Given the description of an element on the screen output the (x, y) to click on. 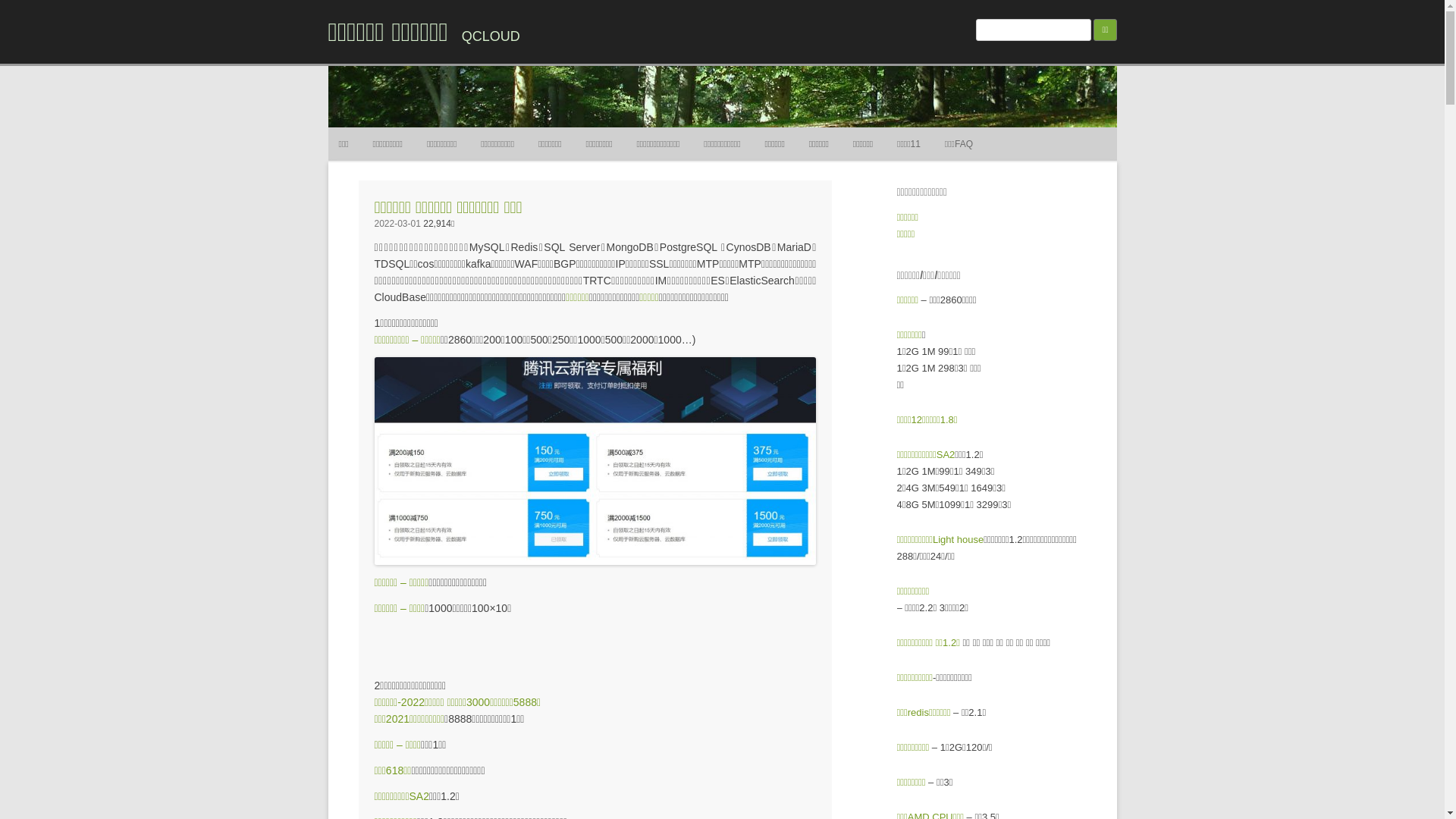
Skip to content Element type: text (756, 132)
2022-03-01 Element type: text (397, 223)
